Given the description of an element on the screen output the (x, y) to click on. 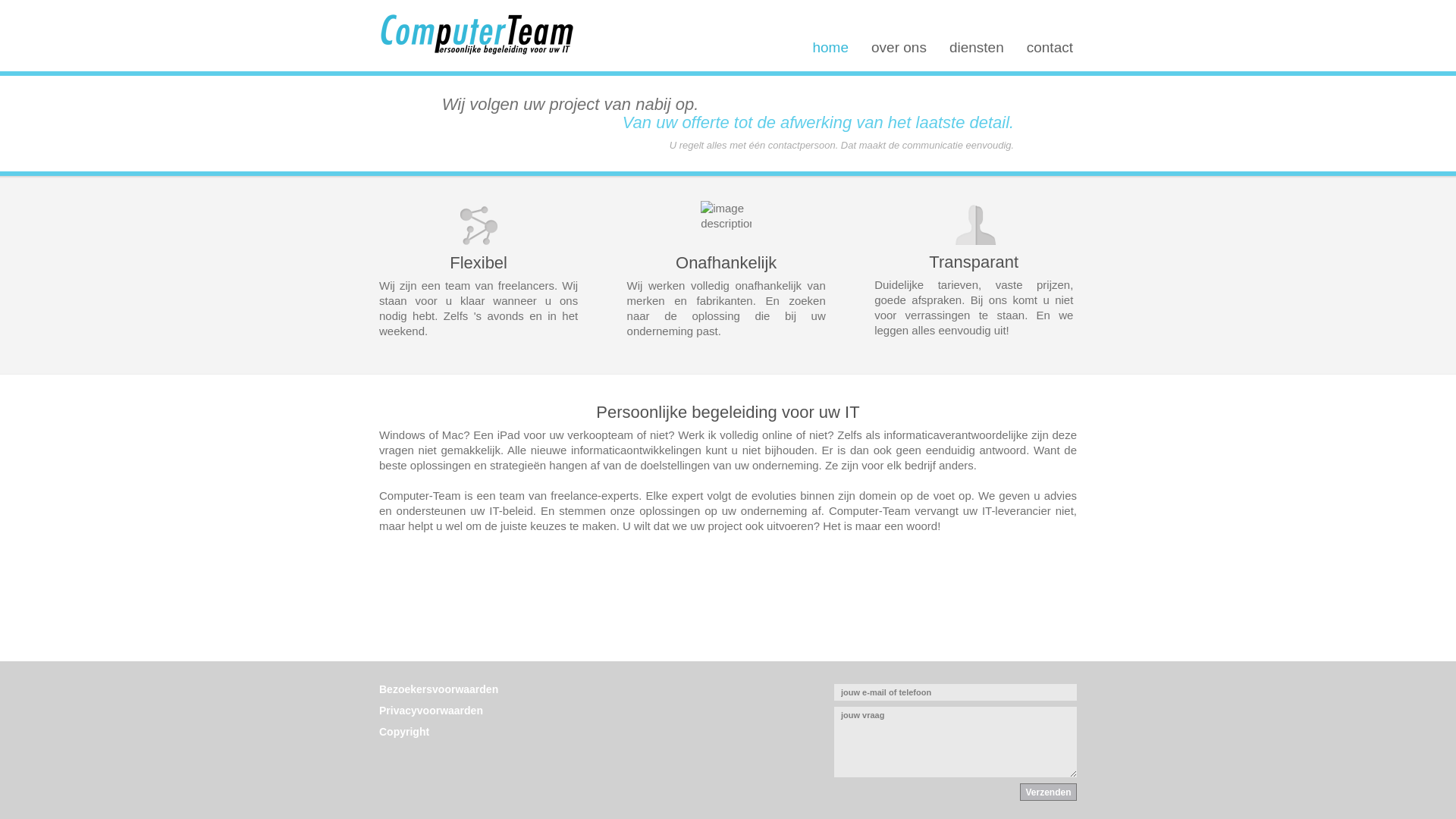
diensten Element type: text (976, 47)
Verzenden Element type: text (1047, 791)
home Element type: text (830, 47)
Privacyvoorwaarden Element type: text (431, 710)
contact Element type: text (1049, 47)
Bezoekersvoorwaarden Element type: text (438, 689)
Computer-Team Persoonlijke begeleiding voor uw IT Element type: text (476, 34)
over ons Element type: text (898, 47)
Copyright Element type: text (404, 731)
